Given the description of an element on the screen output the (x, y) to click on. 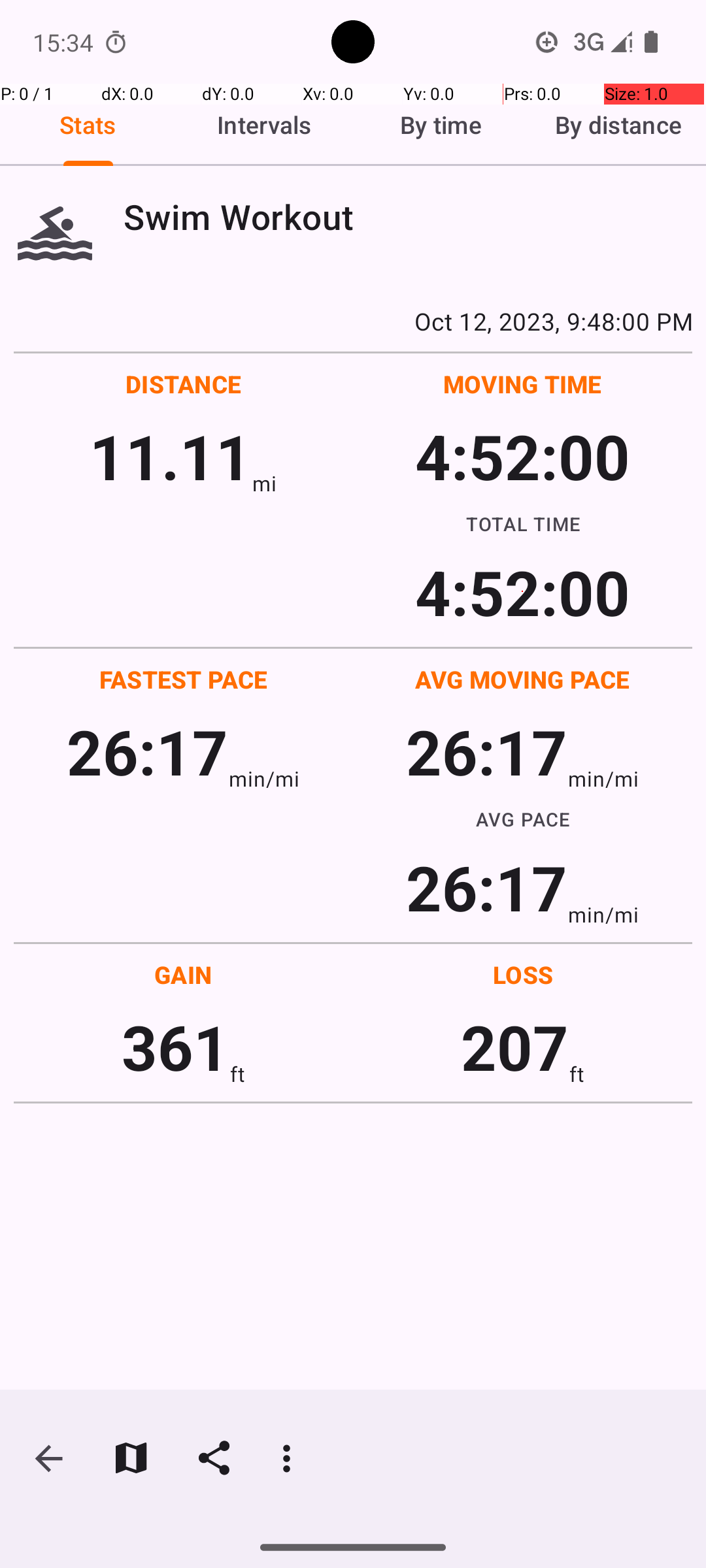
Swim Workout Element type: android.widget.TextView (407, 216)
Oct 12, 2023, 9:48:00 PM Element type: android.widget.TextView (352, 320)
11.11 Element type: android.widget.TextView (170, 455)
4:52:00 Element type: android.widget.TextView (522, 455)
26:17 Element type: android.widget.TextView (147, 750)
361 Element type: android.widget.TextView (175, 1045)
207 Element type: android.widget.TextView (514, 1045)
